Given the description of an element on the screen output the (x, y) to click on. 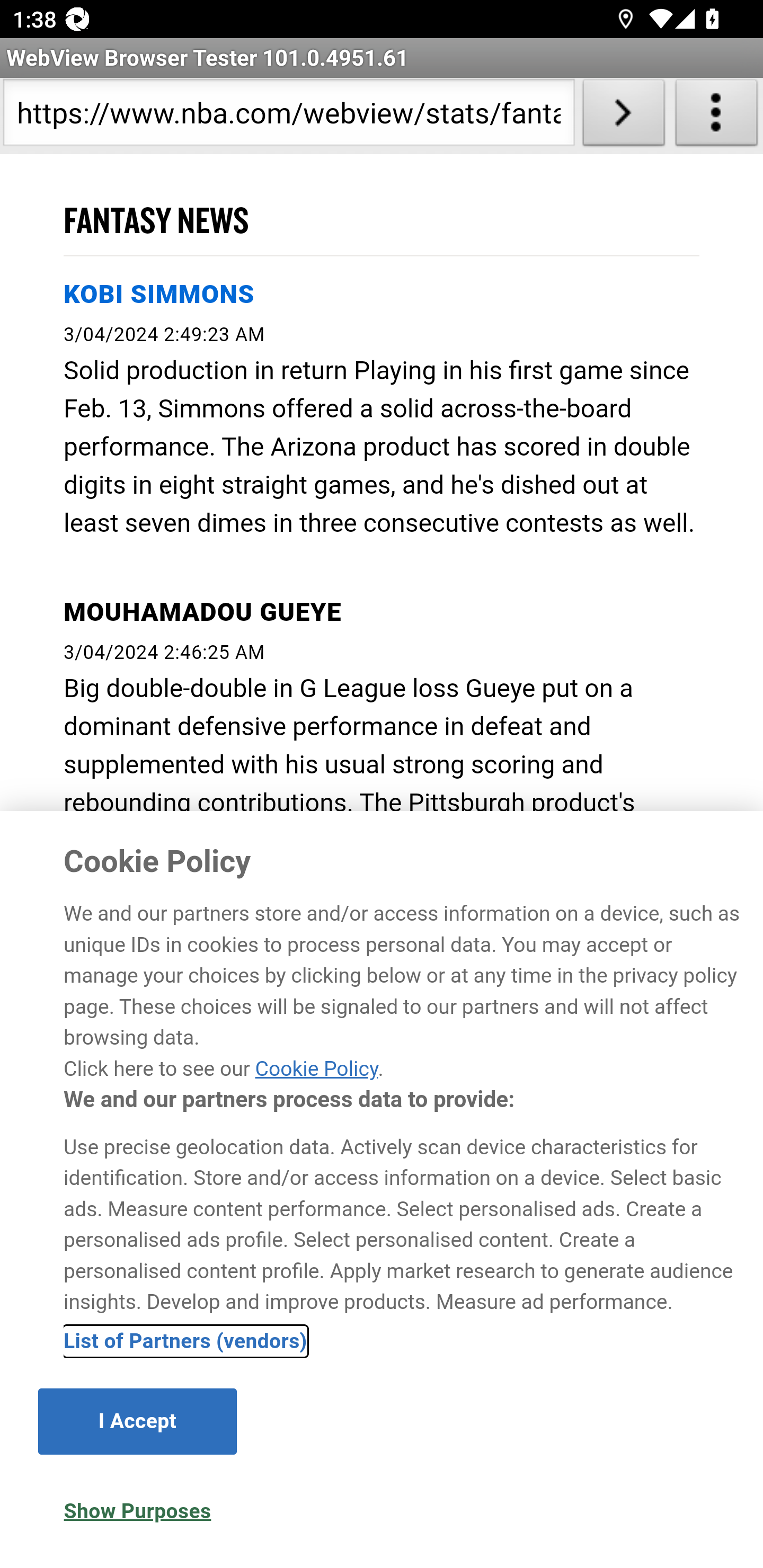
Load URL (623, 115)
About WebView (716, 115)
KOBI SIMMONS (159, 293)
Cookie Policy (316, 1068)
List of Partners (vendors) (185, 1340)
I Accept (137, 1421)
Show Purposes (137, 1511)
